Given the description of an element on the screen output the (x, y) to click on. 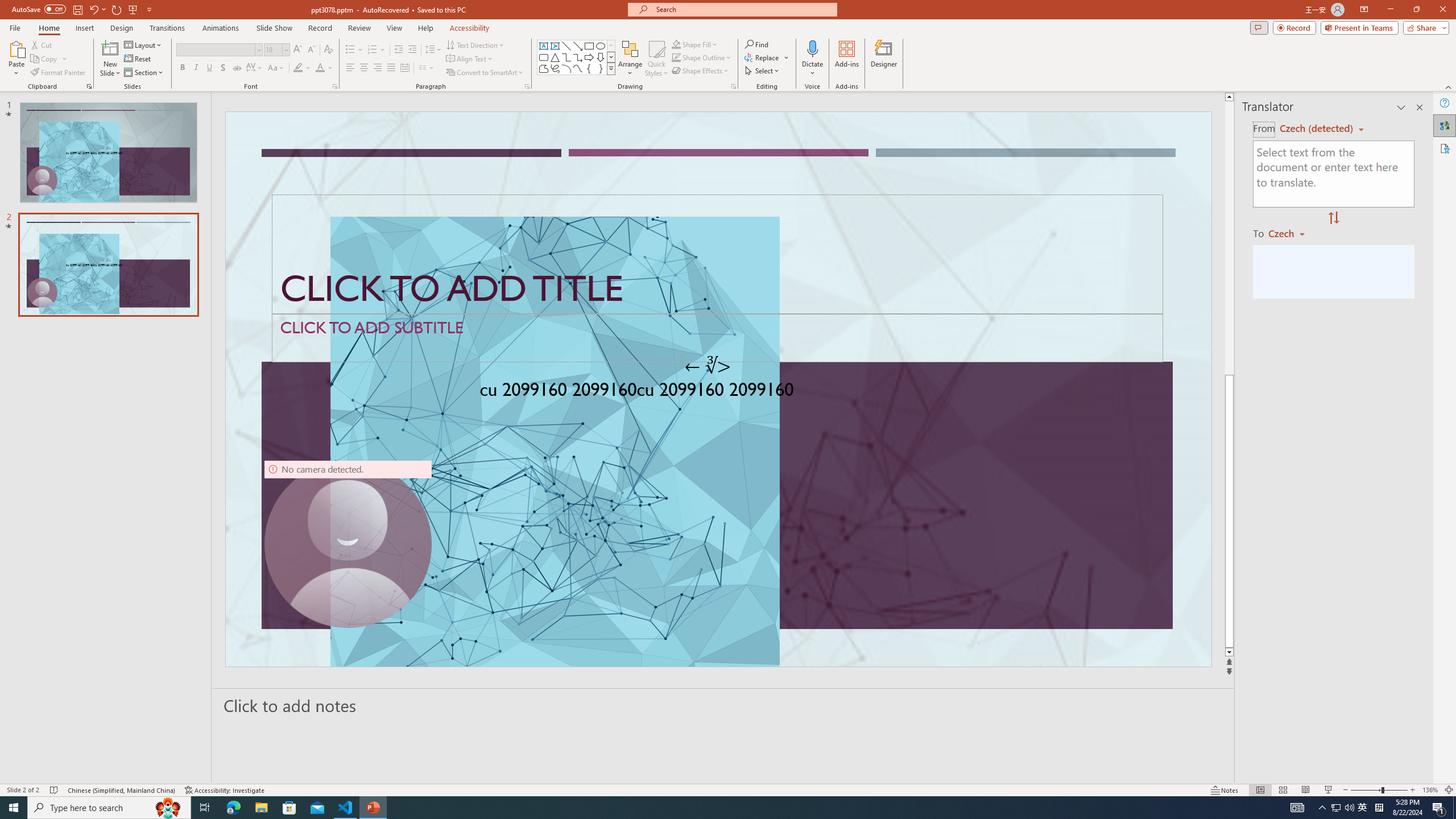
Zoom 136% (1430, 790)
